Given the description of an element on the screen output the (x, y) to click on. 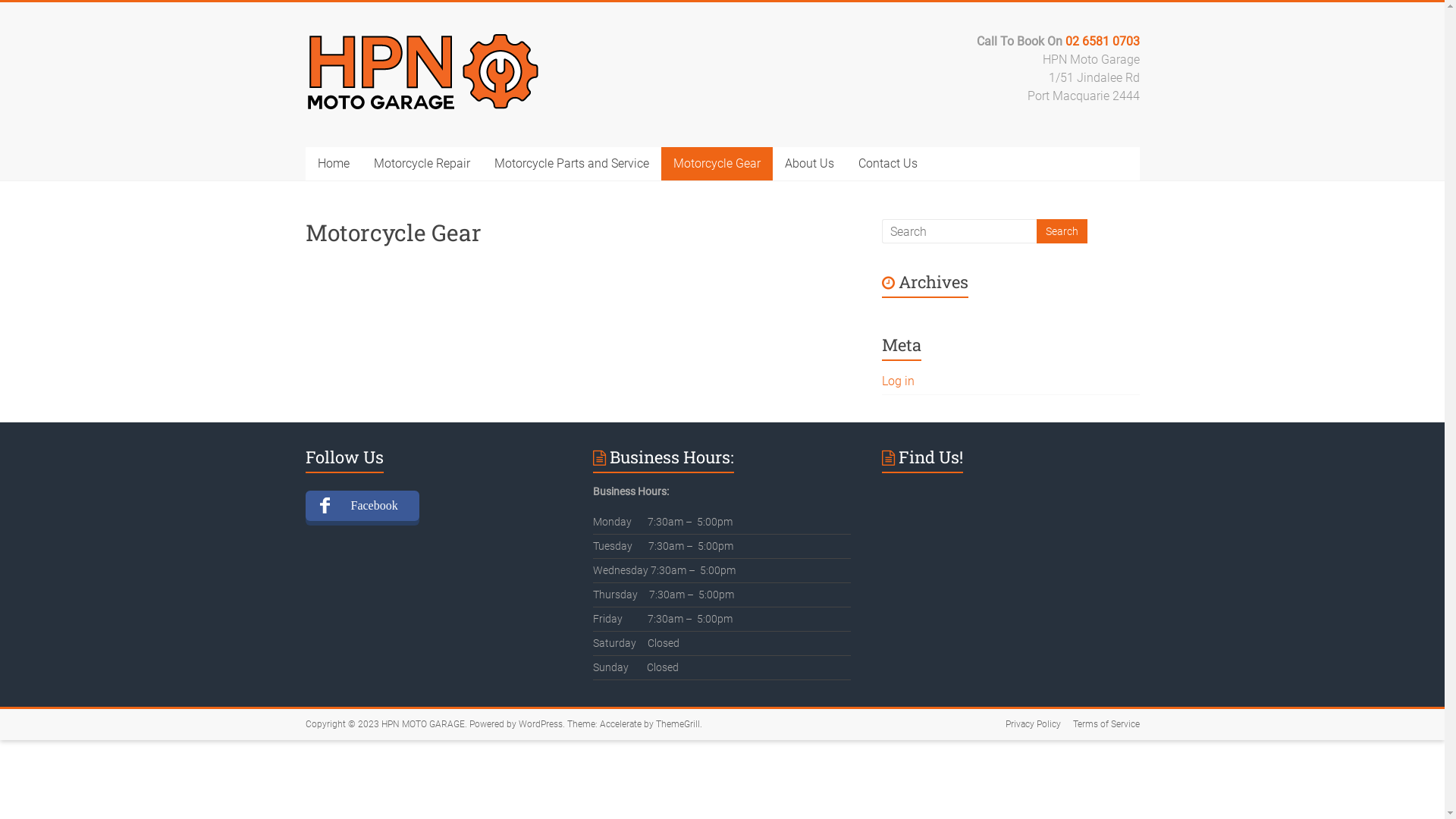
WordPress Element type: text (540, 723)
Home Element type: text (332, 163)
Motorcycle Gear Element type: text (716, 163)
Motorcycle Repair Element type: text (420, 163)
Facebook Element type: text (361, 505)
Contact Us Element type: text (887, 163)
About Us Element type: text (808, 163)
Search Element type: text (1060, 231)
Log in Element type: text (897, 380)
ThemeGrill Element type: text (677, 723)
Motorcycle Parts and Service Element type: text (571, 163)
HPN MOTO GARAGE Element type: text (422, 723)
Terms of Service Element type: text (1099, 724)
02 6581 0703 Element type: text (1101, 41)
Privacy Policy Element type: text (1026, 724)
